Given the description of an element on the screen output the (x, y) to click on. 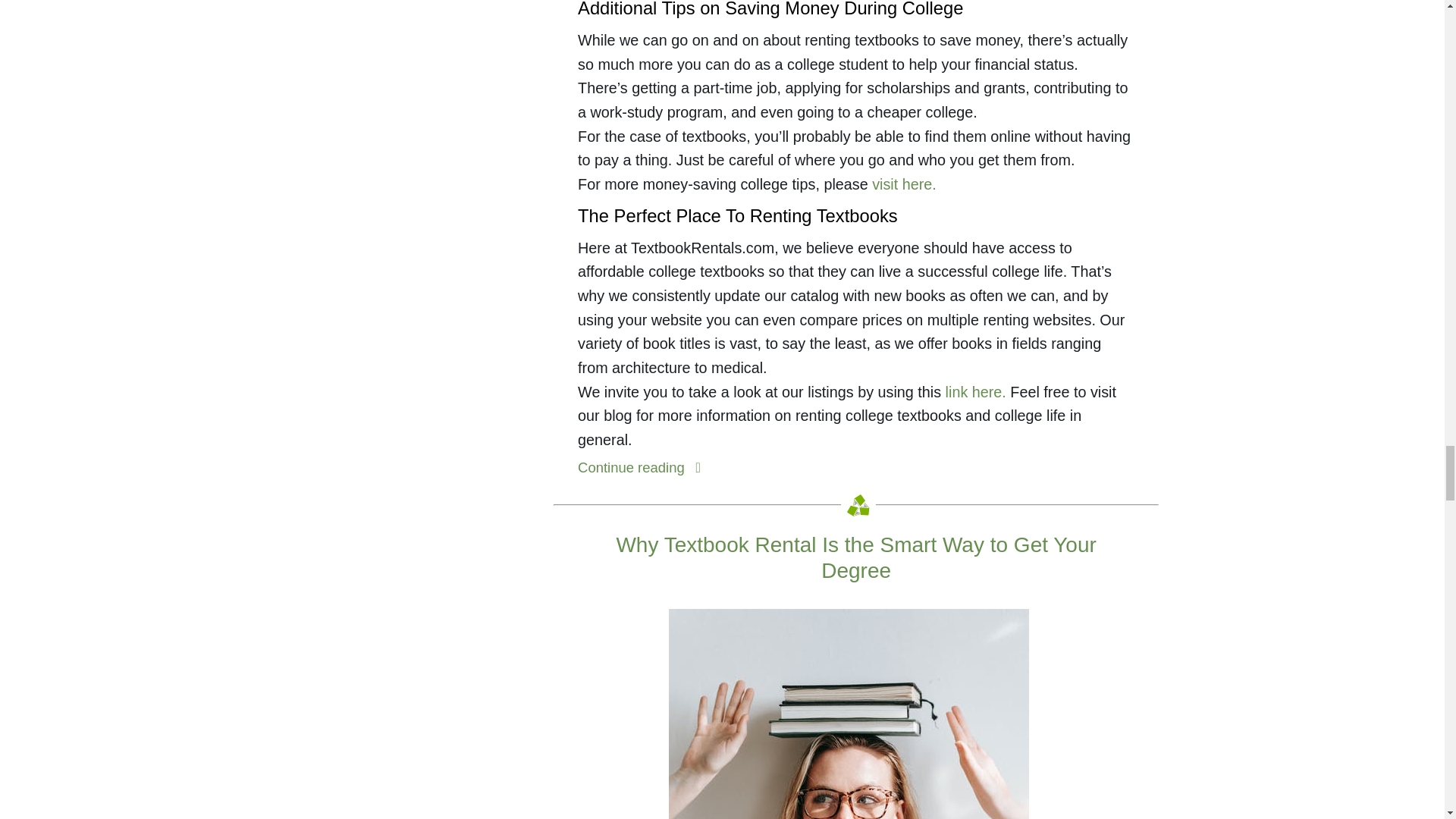
visit here. (904, 184)
How Much Money Can You Save by Renting College Textbooks? (642, 467)
Why Textbook Rental Is the Smart Way to Get Your Degree (855, 557)
Continue reading (642, 467)
link here. (975, 392)
Why Textbook Rental Is the Smart Way to Get Your Degree (855, 557)
